Given the description of an element on the screen output the (x, y) to click on. 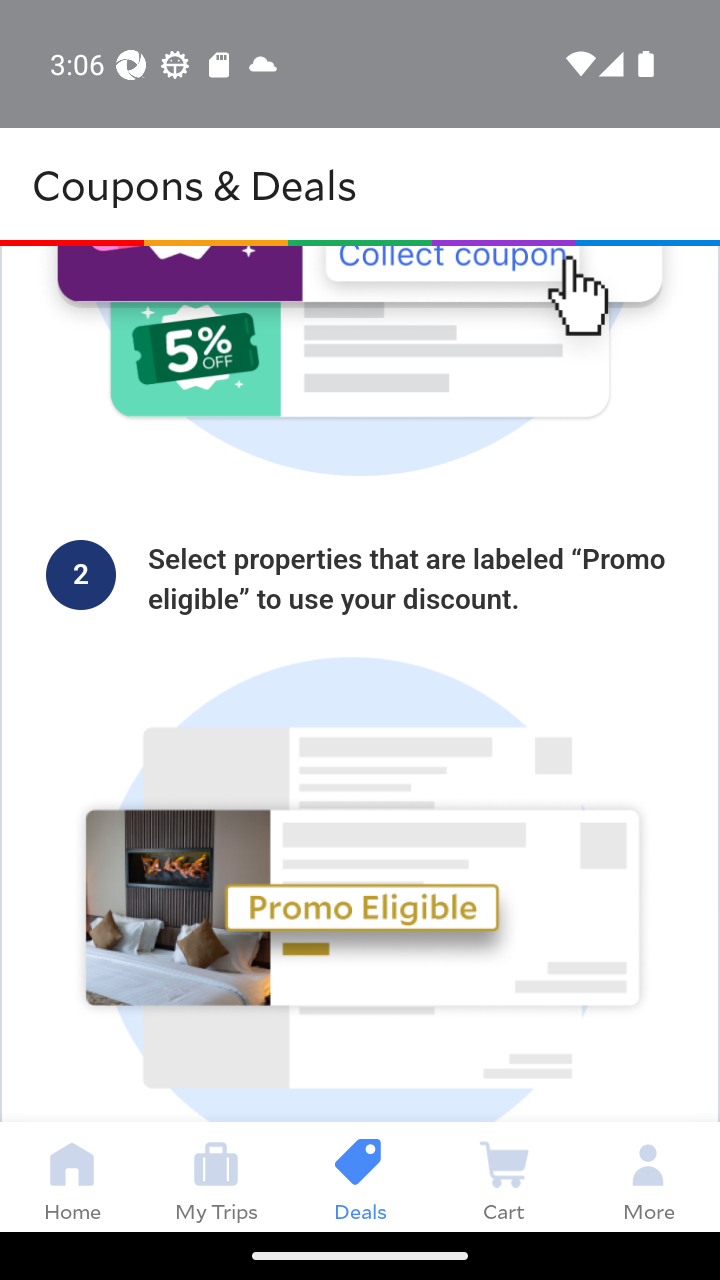
Home (72, 1176)
My Trips (216, 1176)
Deals (360, 1176)
Cart (504, 1176)
More (648, 1176)
